Given the description of an element on the screen output the (x, y) to click on. 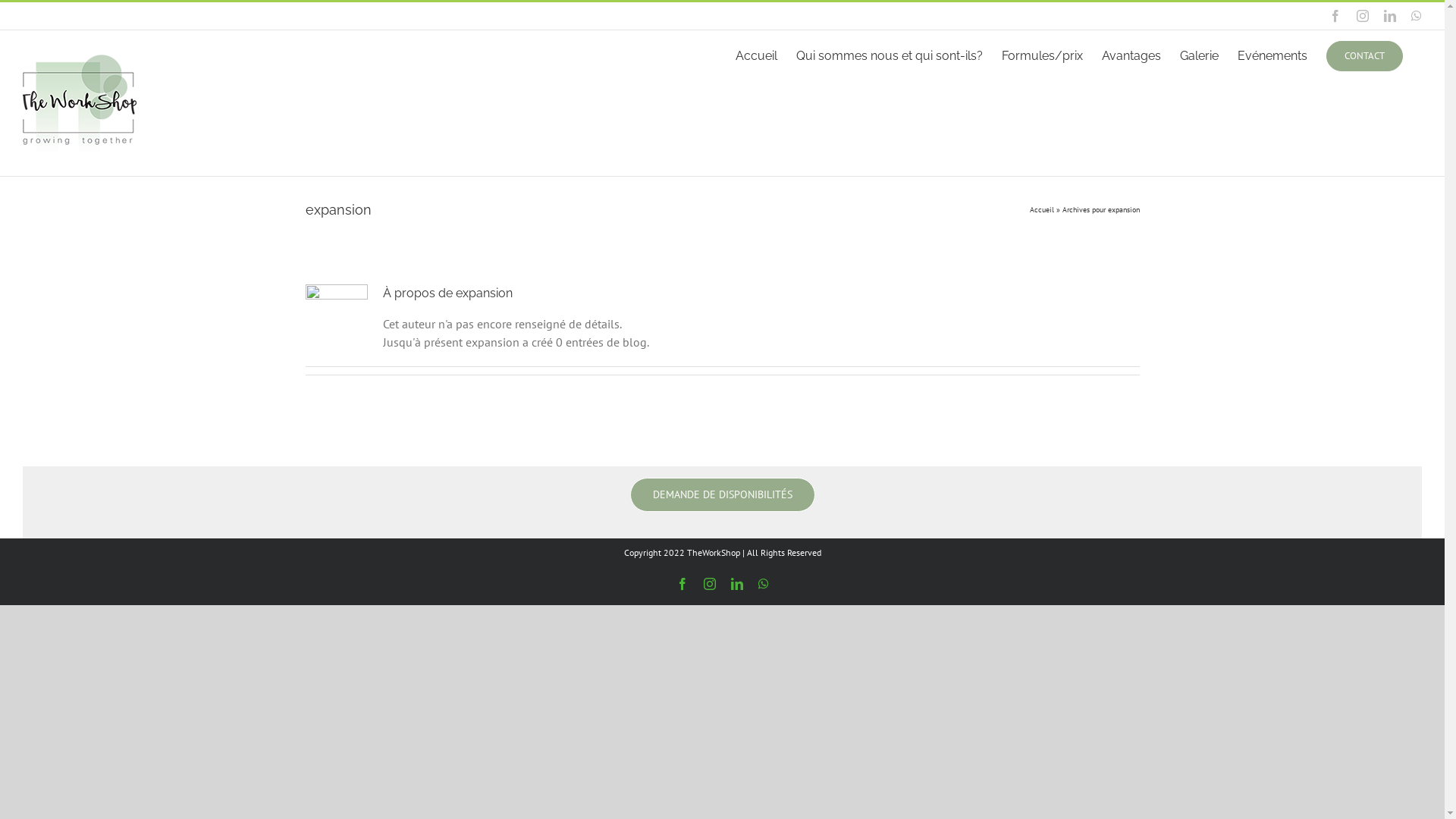
Instagram Element type: text (1362, 15)
WhatsApp Element type: text (763, 583)
LinkedIn Element type: text (1389, 15)
Avantages Element type: text (1131, 54)
Facebook Element type: text (1335, 15)
Accueil Element type: text (1041, 209)
Formules/prix Element type: text (1041, 54)
CONTACT Element type: text (1364, 54)
Accueil Element type: text (756, 54)
Instagram Element type: text (709, 583)
Qui sommes nous et qui sont-ils? Element type: text (889, 54)
Facebook Element type: text (682, 583)
LinkedIn Element type: text (737, 583)
WhatsApp Element type: text (1416, 15)
Galerie Element type: text (1198, 54)
